Given the description of an element on the screen output the (x, y) to click on. 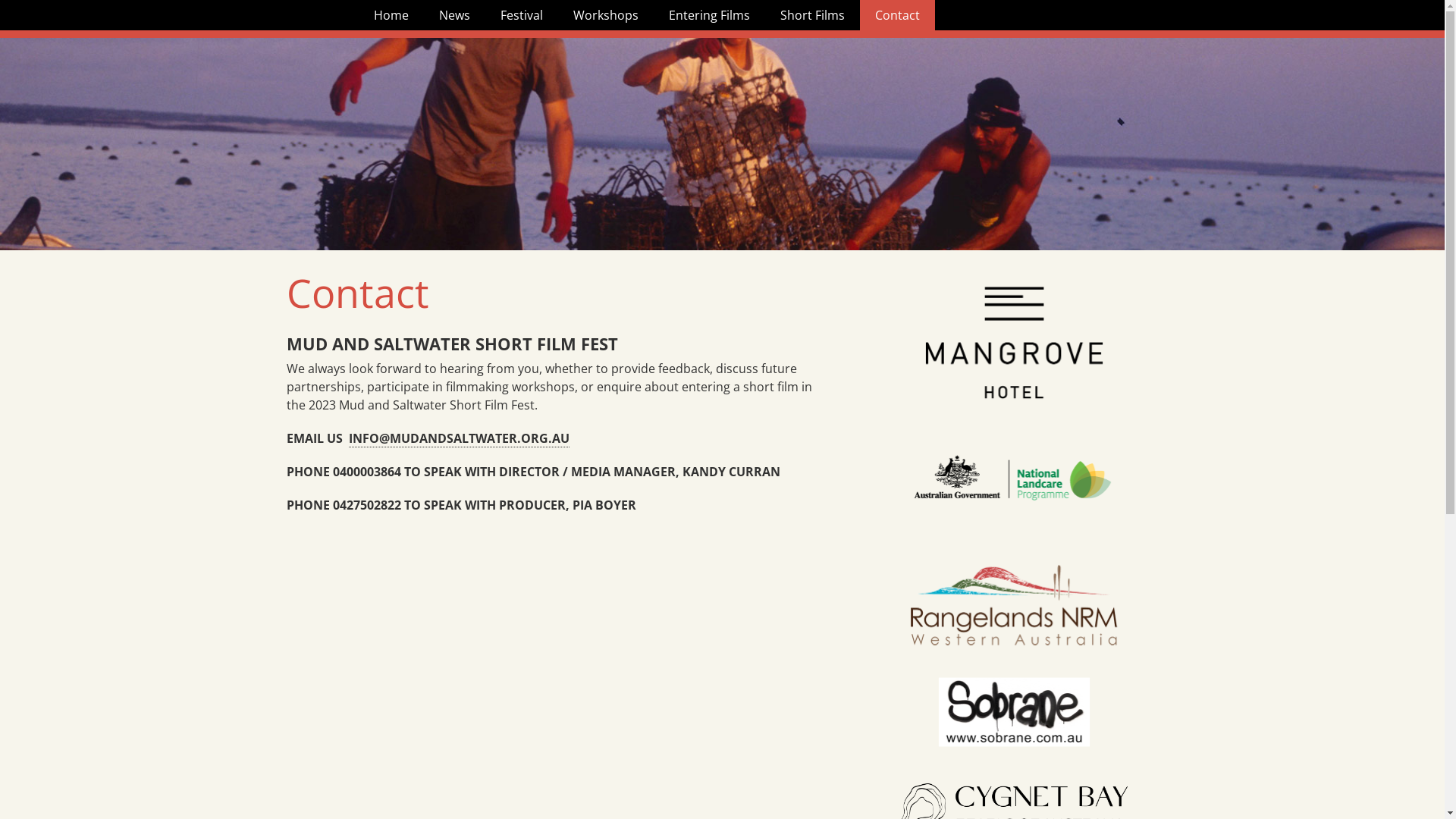
News Element type: text (453, 15)
Festival Element type: text (521, 15)
Home Element type: text (390, 15)
Entering Films Element type: text (709, 15)
Short Films Element type: text (811, 15)
INFO@MUDANDSALTWATER.ORG.AU Element type: text (458, 438)
Contact Element type: text (897, 15)
Workshops Element type: text (605, 15)
